Given the description of an element on the screen output the (x, y) to click on. 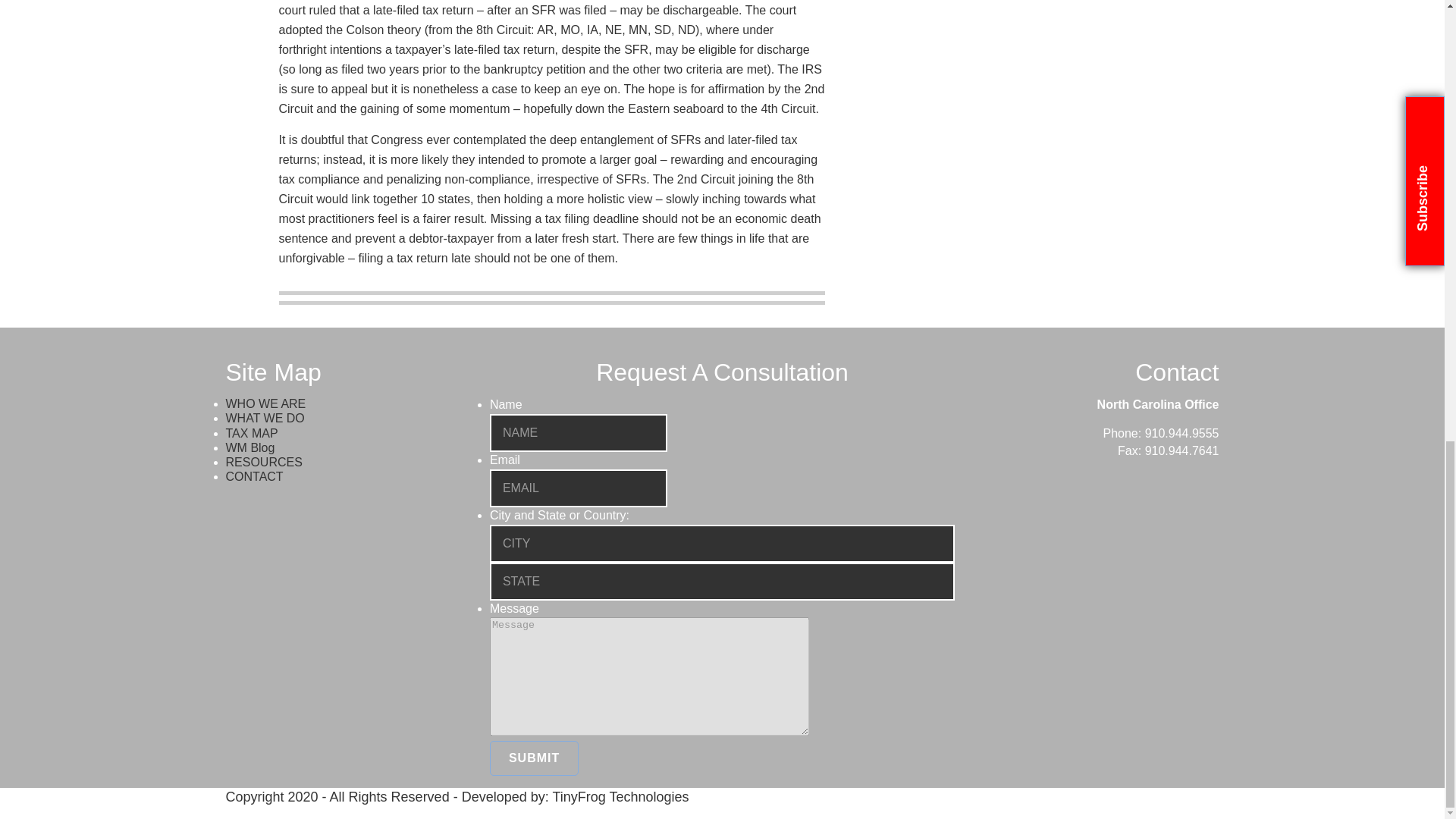
WM Blog (250, 447)
TAX MAP (251, 432)
Submit (533, 758)
RESOURCES (263, 461)
Submit (533, 758)
WHAT WE DO (264, 418)
CONTACT (254, 476)
TinyFrog Technologies (619, 796)
WHO WE ARE (265, 403)
